Given the description of an element on the screen output the (x, y) to click on. 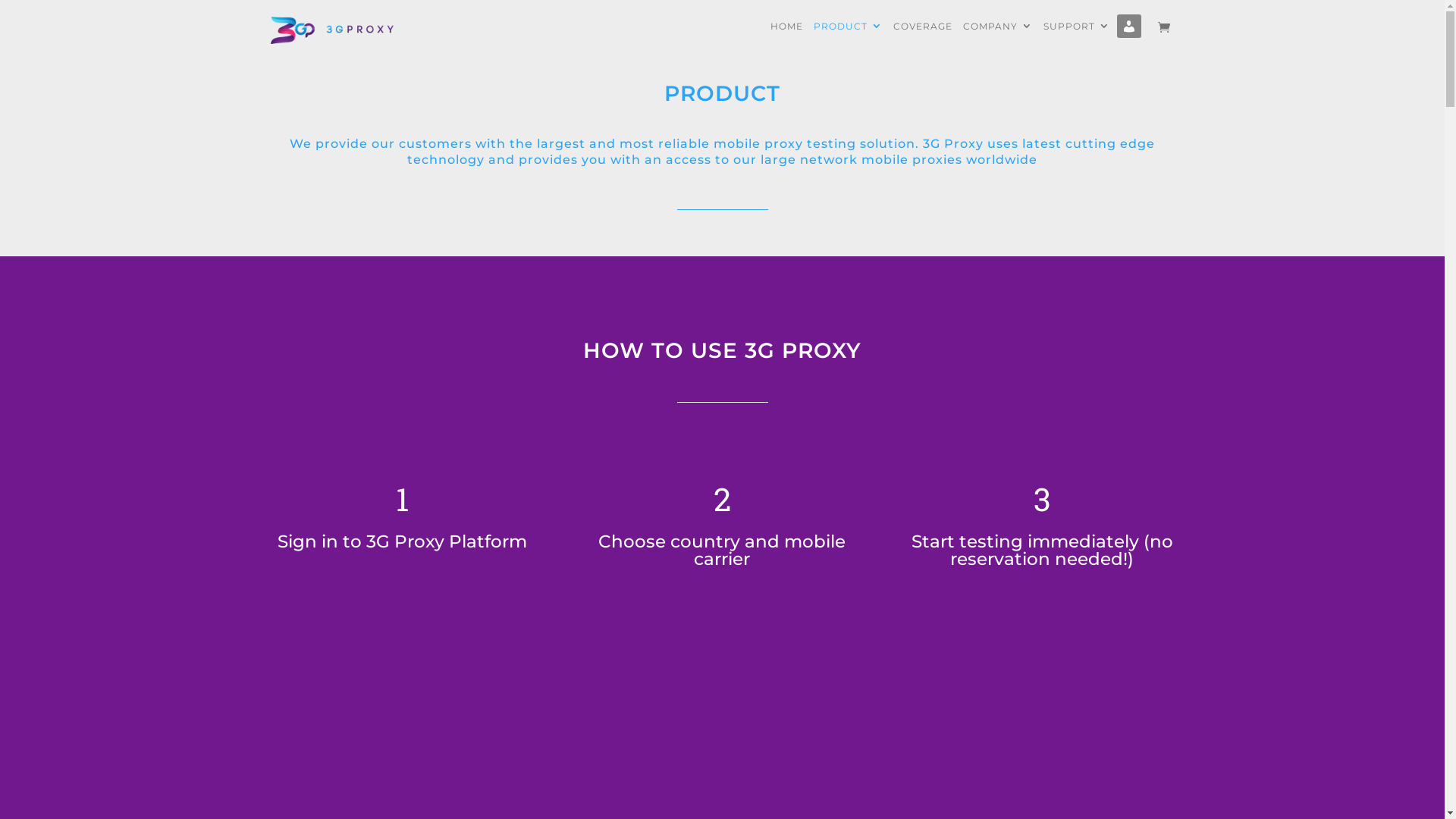
PRODUCT Element type: text (846, 37)
LOG IN Element type: text (1130, 38)
COVERAGE Element type: text (922, 37)
Chatbot Element type: hover (1383, 757)
COMPANY Element type: text (997, 37)
SUPPORT Element type: text (1076, 37)
HOME Element type: text (786, 37)
